Given the description of an element on the screen output the (x, y) to click on. 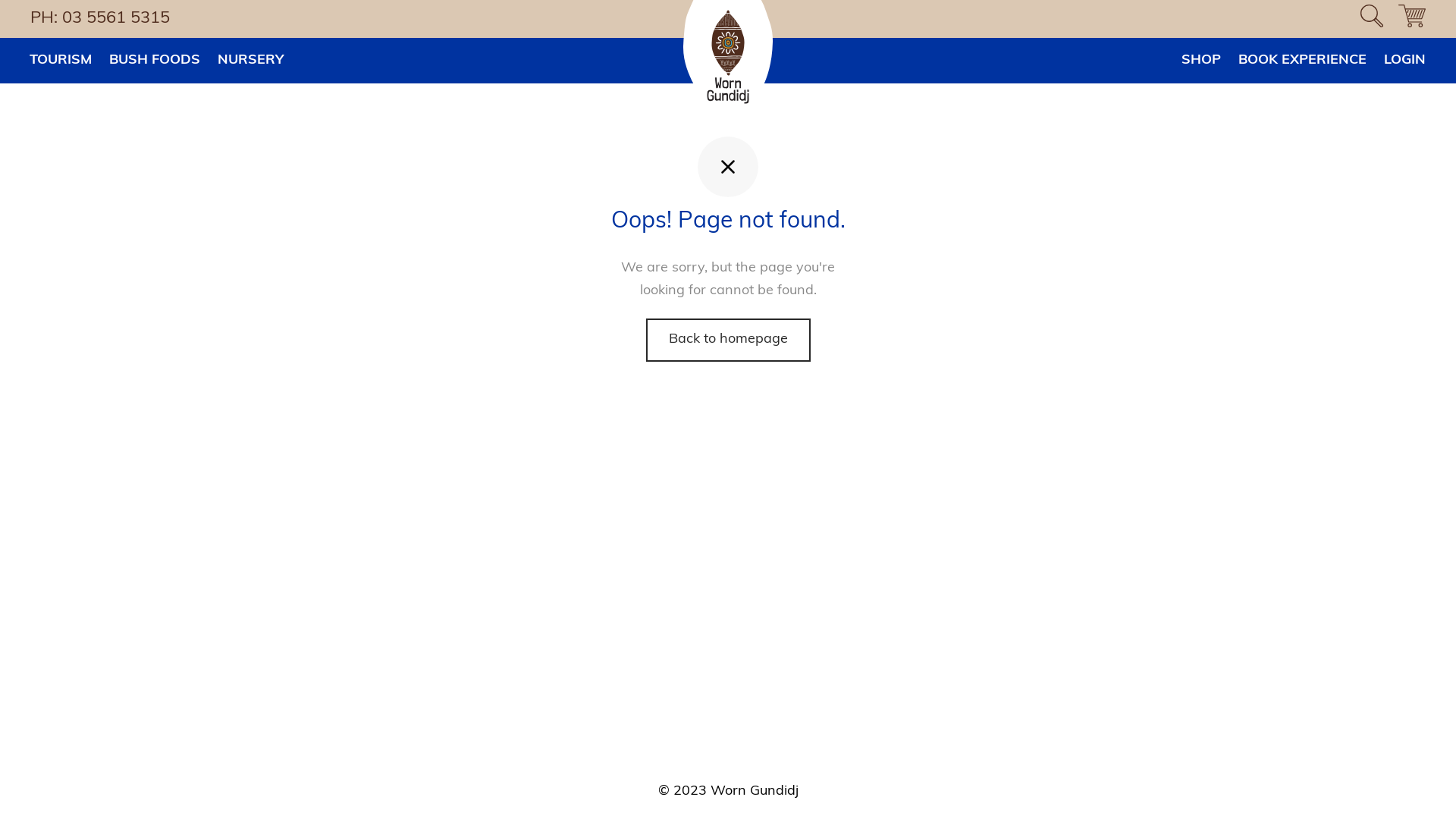
LOGIN Element type: text (1404, 60)
BUSH FOODS Element type: text (154, 60)
Cart Element type: hover (1411, 18)
NURSERY Element type: text (250, 60)
TOURISM Element type: text (60, 60)
PH: 03 5561 5315 Element type: text (103, 18)
Back to homepage Element type: text (728, 339)
BOOK EXPERIENCE Element type: text (1302, 60)
Search Element type: text (30, 20)
SHOP Element type: text (1200, 60)
